Given the description of an element on the screen output the (x, y) to click on. 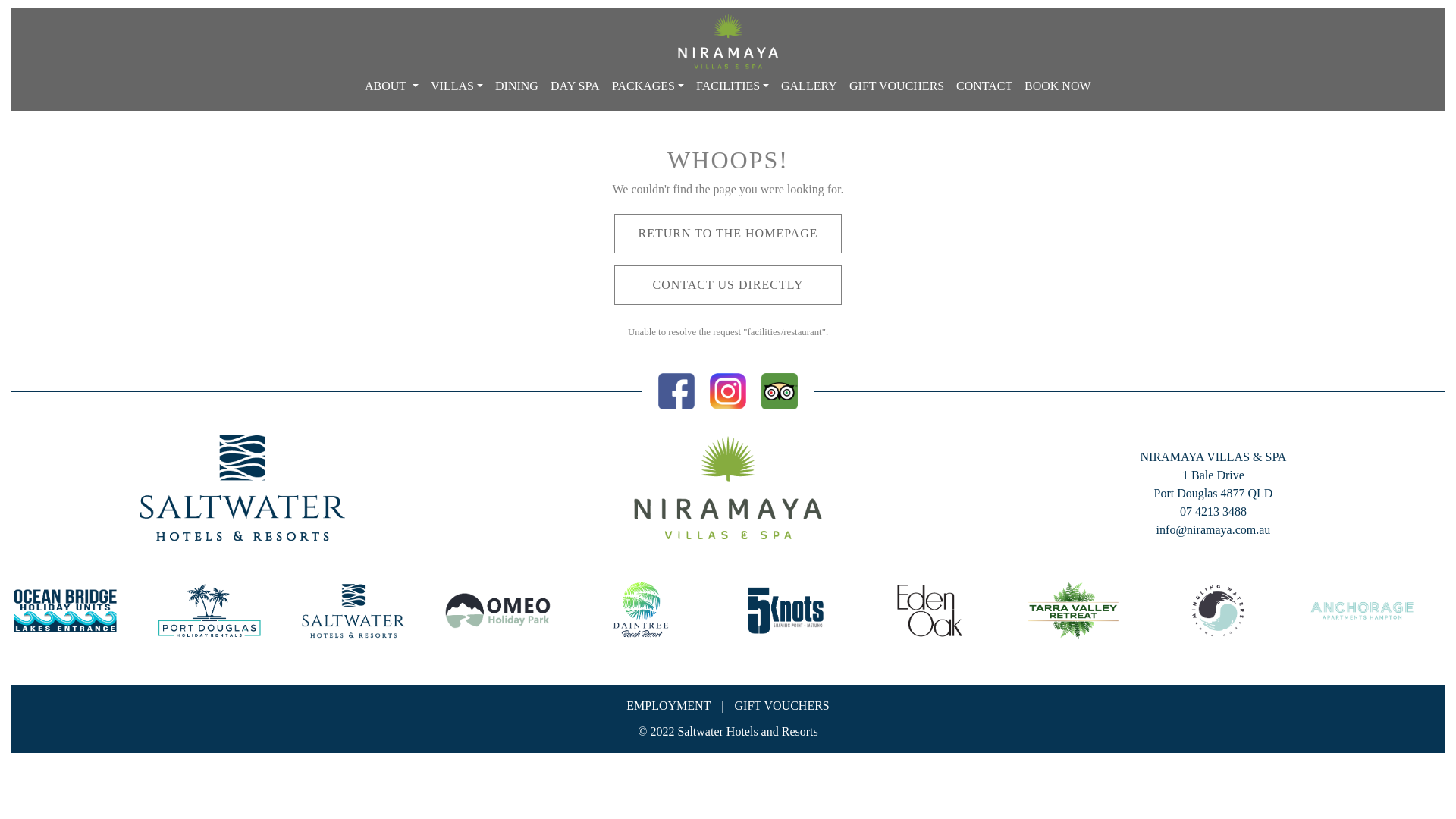
GIFT VOUCHERS Element type: text (896, 86)
PACKAGES Element type: text (647, 86)
Saltwater Hotels & Resorts Element type: hover (242, 487)
DINING Element type: text (516, 86)
info@niramaya.com.au Element type: text (1213, 529)
VILLAS Element type: text (456, 86)
CONTACT US DIRECTLY Element type: text (727, 284)
EMPLOYMENT Element type: text (668, 705)
GIFT VOUCHERS Element type: text (781, 705)
GALLERY Element type: text (809, 86)
Trip Advisor Element type: hover (779, 389)
ABOUT Element type: text (391, 86)
FACILITIES Element type: text (732, 86)
Facebook Element type: hover (676, 389)
DAY SPA Element type: text (574, 86)
RETURN TO THE HOMEPAGE Element type: text (727, 233)
CONTACT Element type: text (984, 86)
BOOK NOW Element type: text (1057, 86)
Instagram Element type: hover (727, 389)
